Given the description of an element on the screen output the (x, y) to click on. 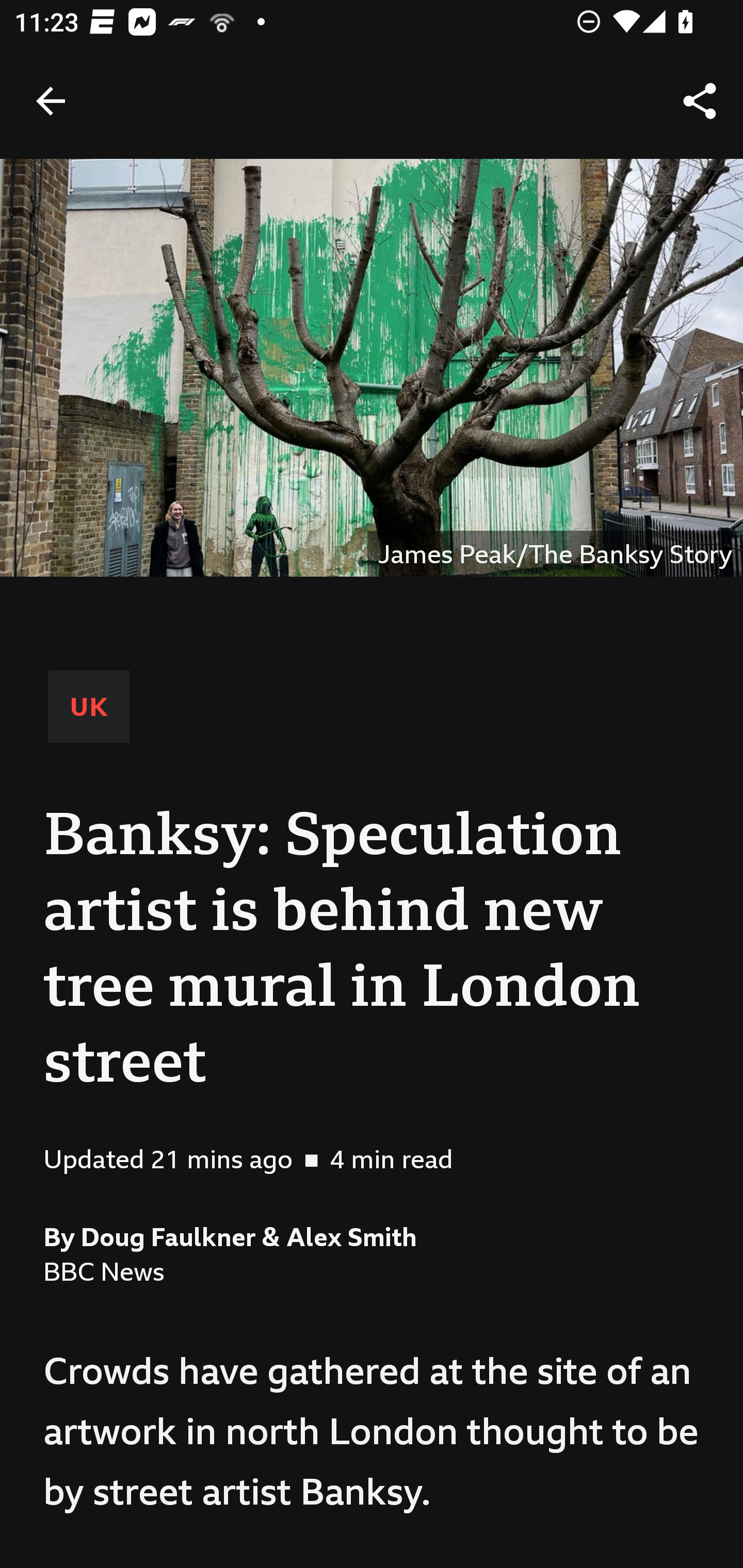
Back (50, 101)
Share (699, 101)
UK (88, 706)
